Given the description of an element on the screen output the (x, y) to click on. 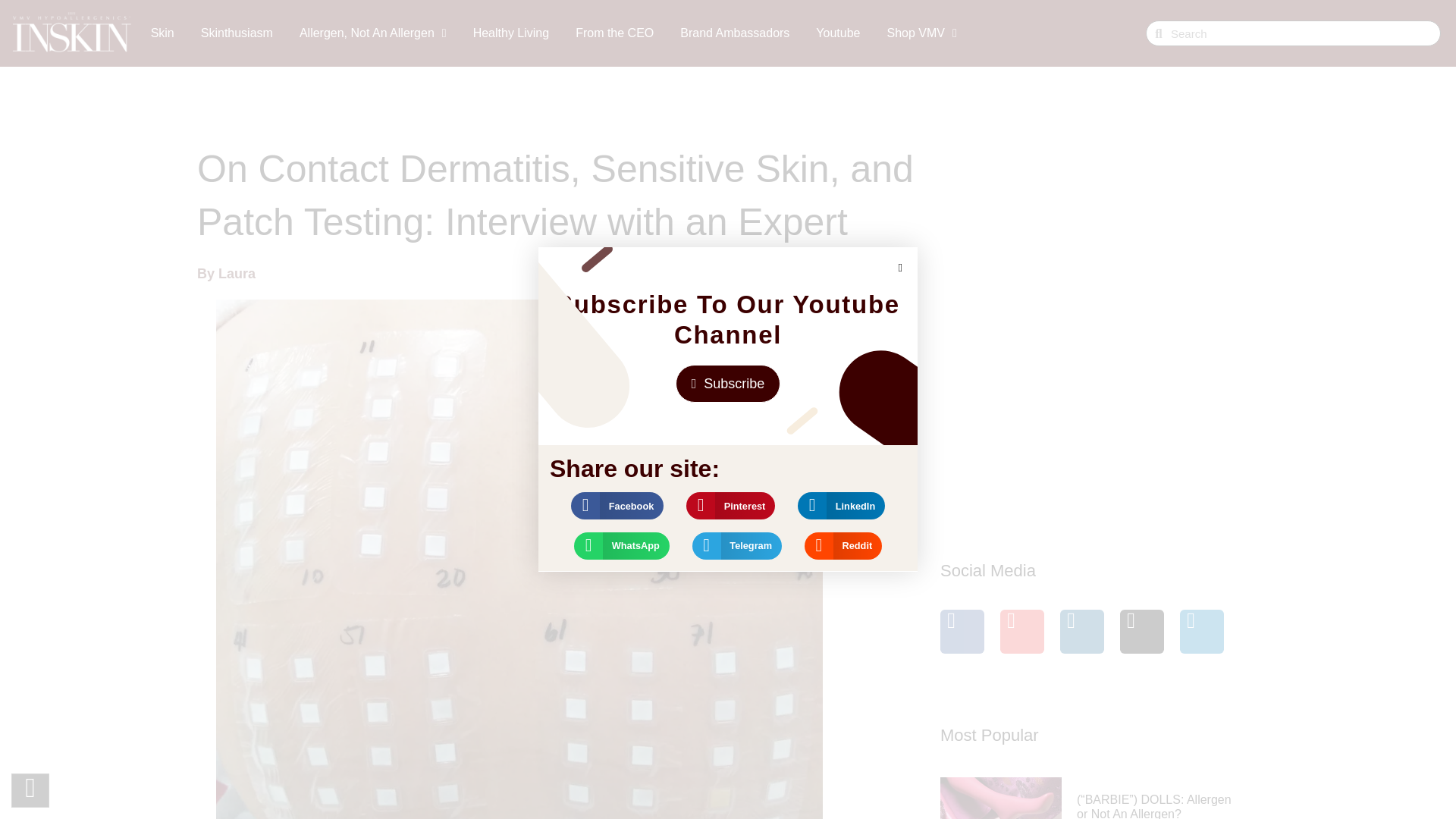
From the CEO (614, 13)
Allergen, Not An Allergen (372, 12)
Healthy Living (511, 12)
Brand Ambassadors (734, 13)
Skinthusiasm (236, 11)
Youtube (837, 13)
Advertisement (1053, 393)
Shop VMV (921, 15)
Skin (162, 11)
